Given the description of an element on the screen output the (x, y) to click on. 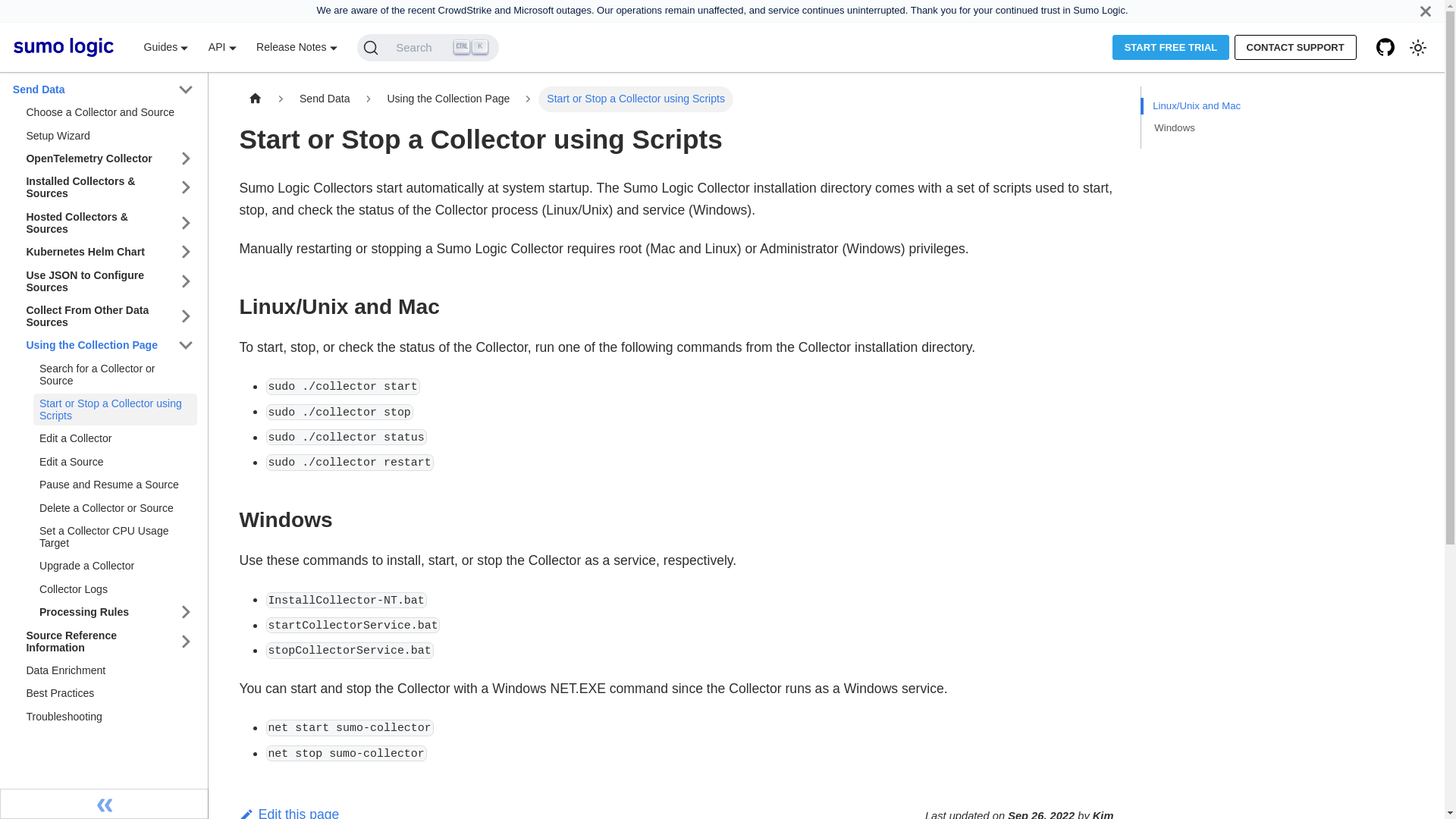
Collapse sidebar (104, 803)
Setup Wizard (108, 135)
OpenTelemetry Collector (97, 158)
Send Data (90, 89)
Release Notes (296, 46)
Choose a Collector and Source (108, 112)
API (222, 46)
Guides (165, 46)
